Given the description of an element on the screen output the (x, y) to click on. 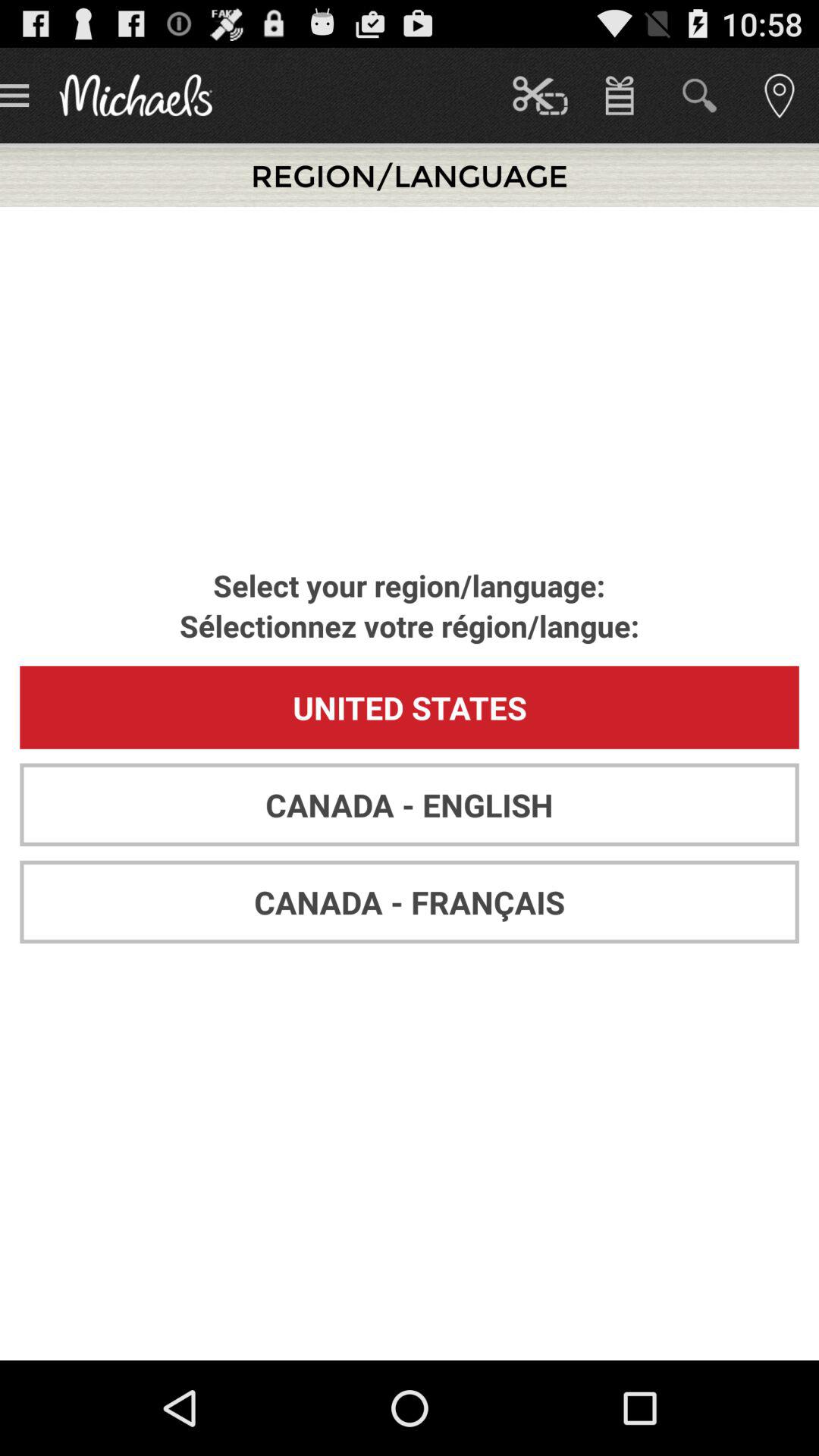
scroll to united states icon (409, 707)
